Given the description of an element on the screen output the (x, y) to click on. 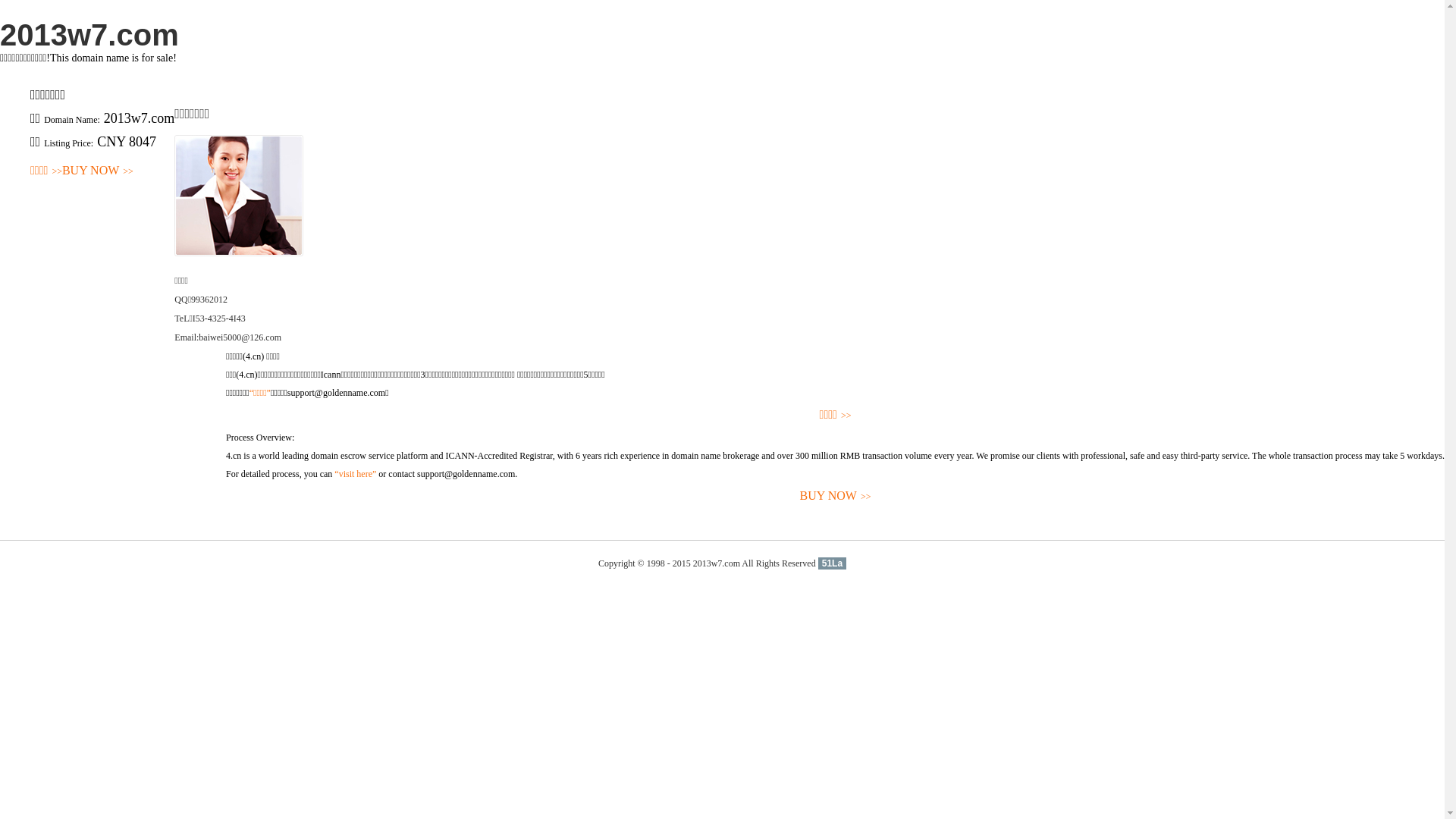
BUY NOW>> Element type: text (97, 170)
BUY NOW>> Element type: text (834, 496)
51La Element type: text (832, 563)
